Given the description of an element on the screen output the (x, y) to click on. 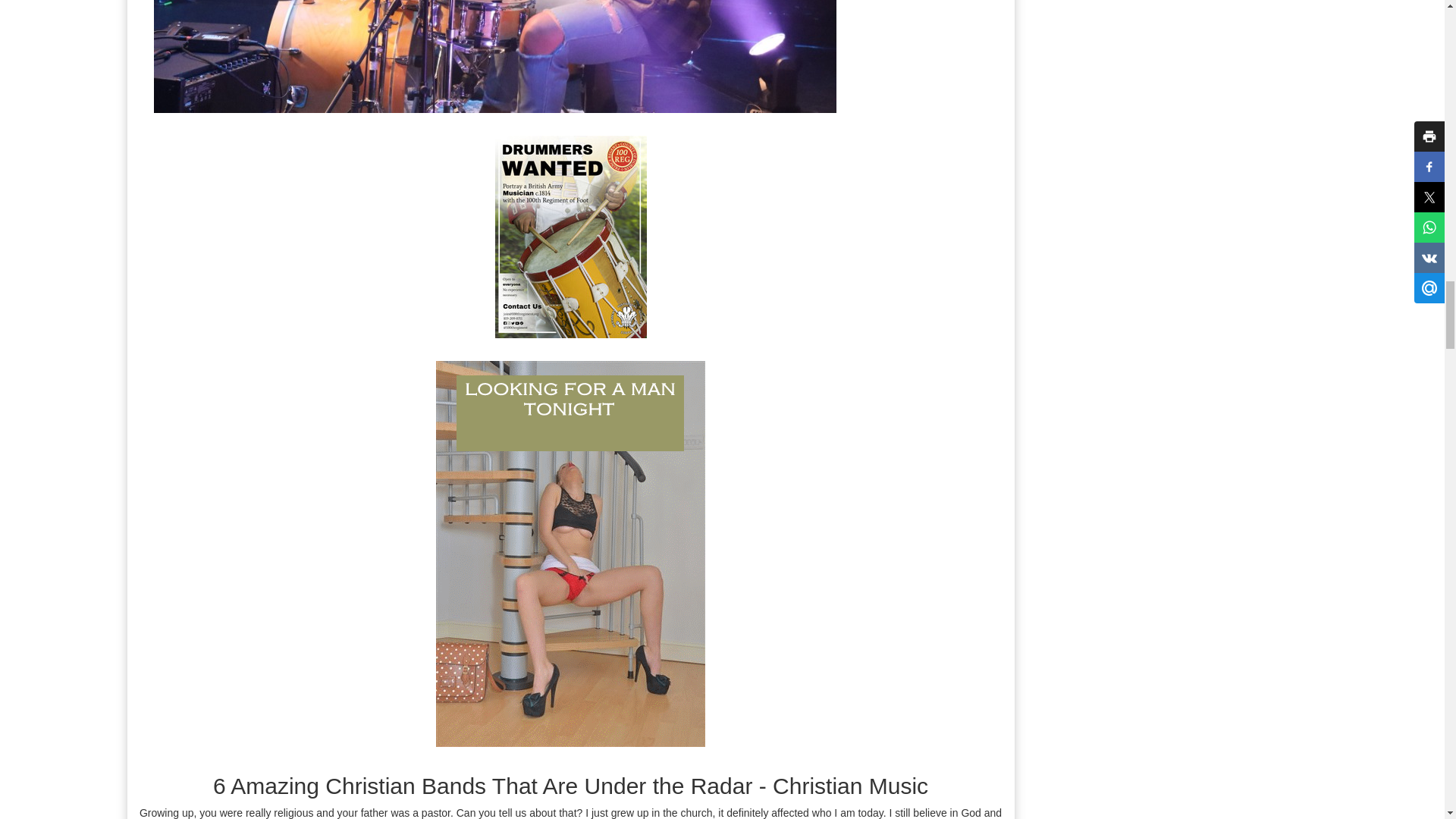
Gay cigar porn (493, 56)
